Given the description of an element on the screen output the (x, y) to click on. 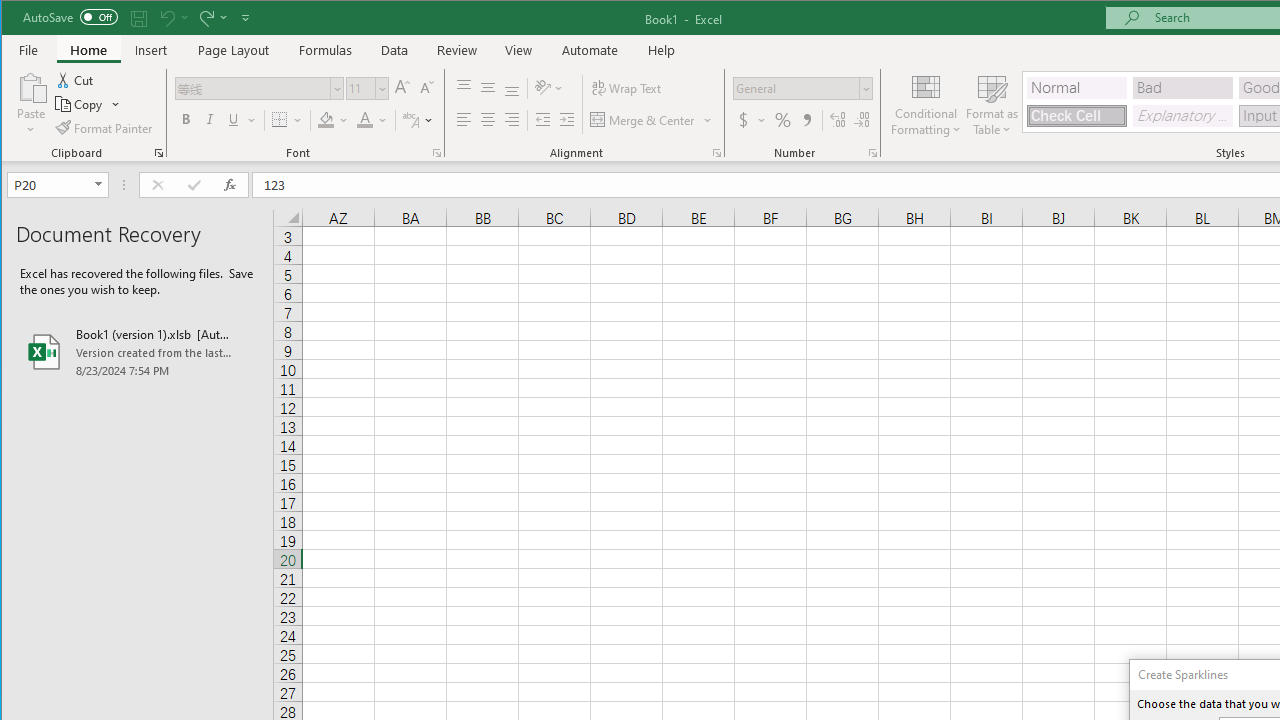
Borders (286, 119)
Increase Decimal (837, 119)
Merge & Center (644, 119)
Decrease Decimal (861, 119)
Cut (75, 80)
Font Color (372, 119)
Bad (1183, 88)
Font (259, 88)
Top Align (463, 88)
